Given the description of an element on the screen output the (x, y) to click on. 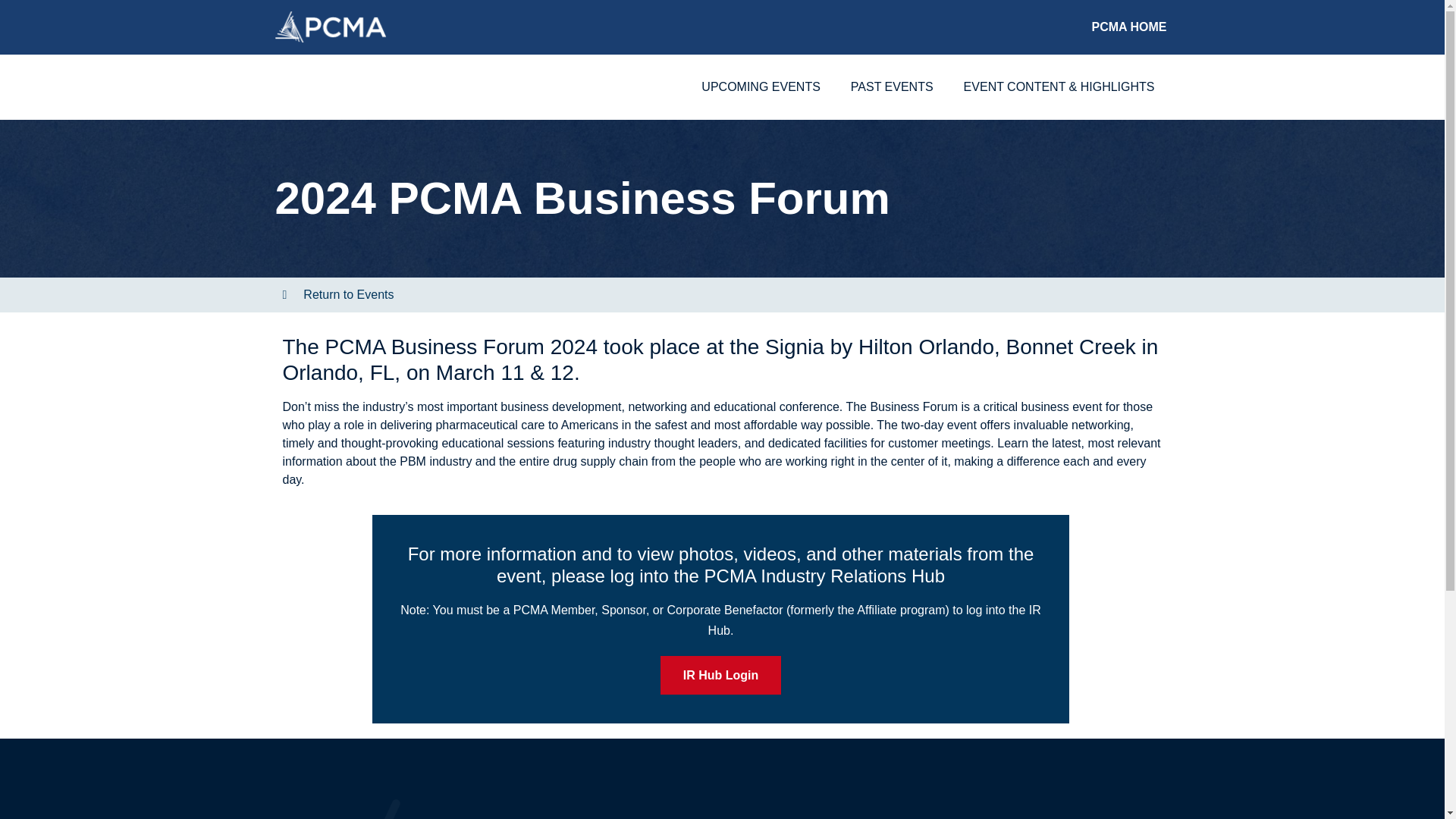
Return to Events (337, 294)
IR Hub Login (721, 675)
PCMA HOME (1128, 26)
PAST EVENTS (892, 86)
UPCOMING EVENTS (759, 86)
